Given the description of an element on the screen output the (x, y) to click on. 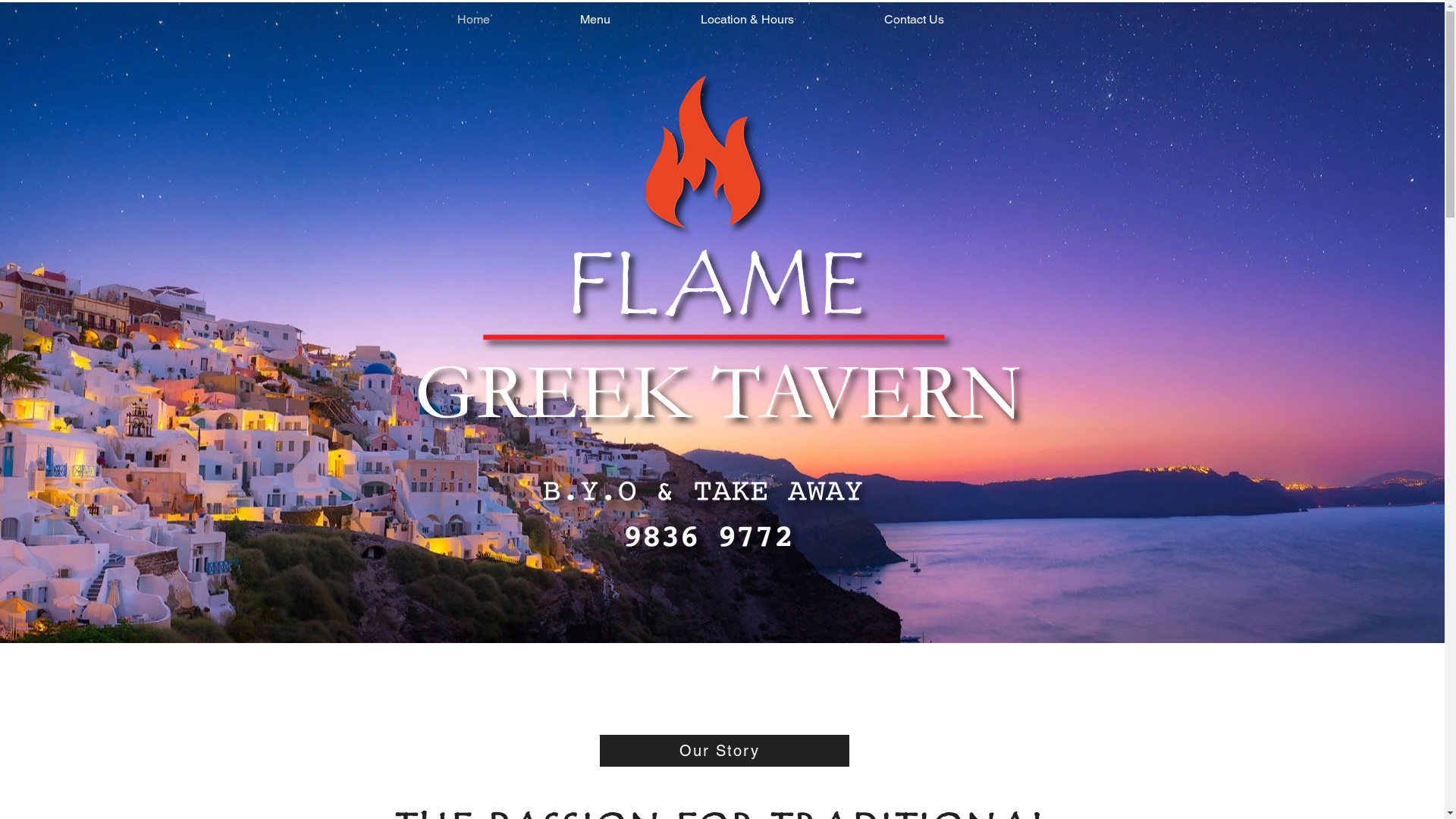
Contact Us Element type: text (913, 19)
Home Element type: text (473, 19)
Location & Hours Element type: text (746, 19)
